Given the description of an element on the screen output the (x, y) to click on. 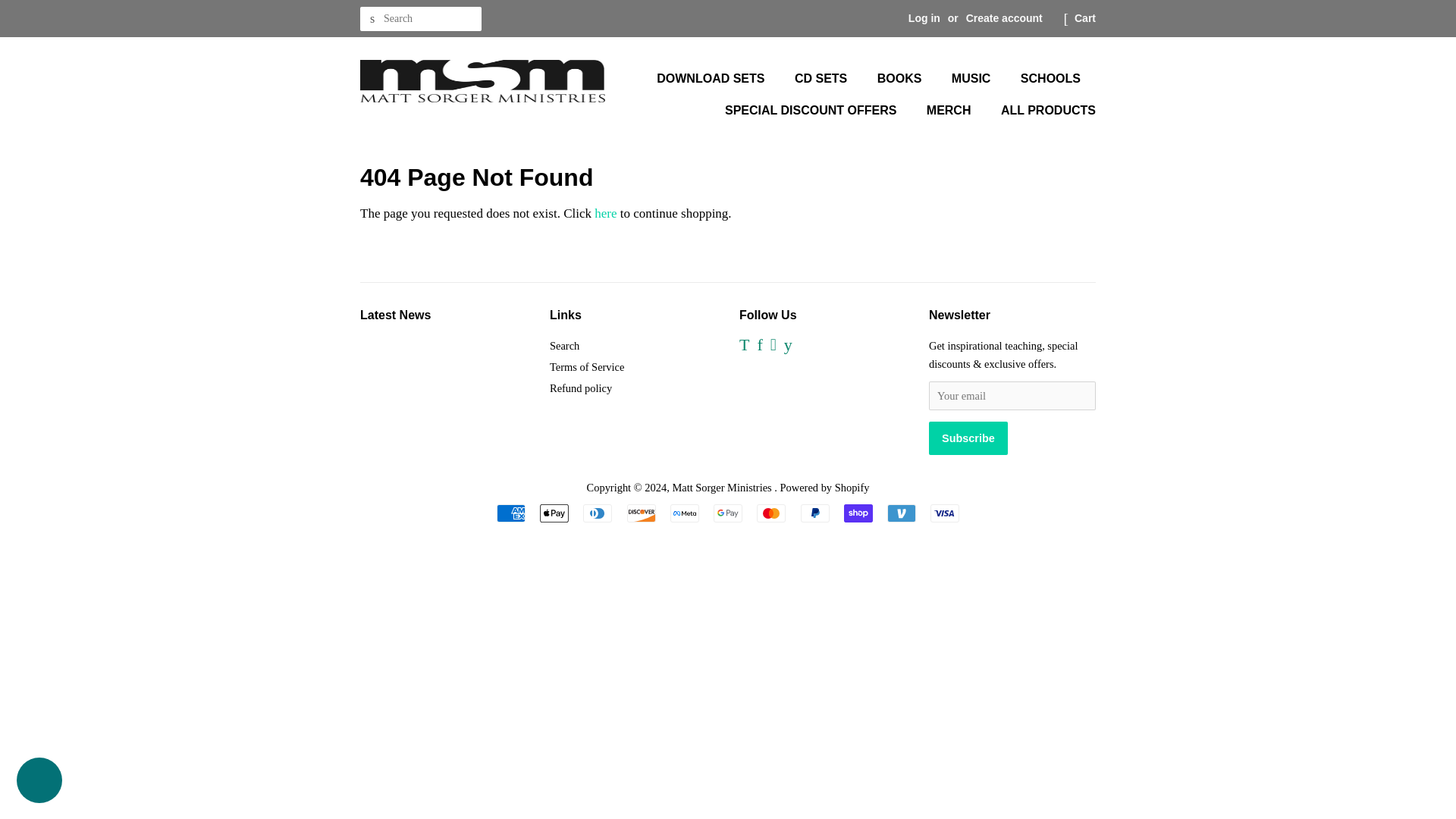
Search (371, 18)
American Express (510, 513)
BOOKS (901, 78)
CD SETS (822, 78)
Matt Sorger Ministries (722, 487)
PayPal (814, 513)
here (604, 213)
DOWNLOAD SETS (717, 78)
Discover (640, 513)
Terms of Service (587, 367)
